Given the description of an element on the screen output the (x, y) to click on. 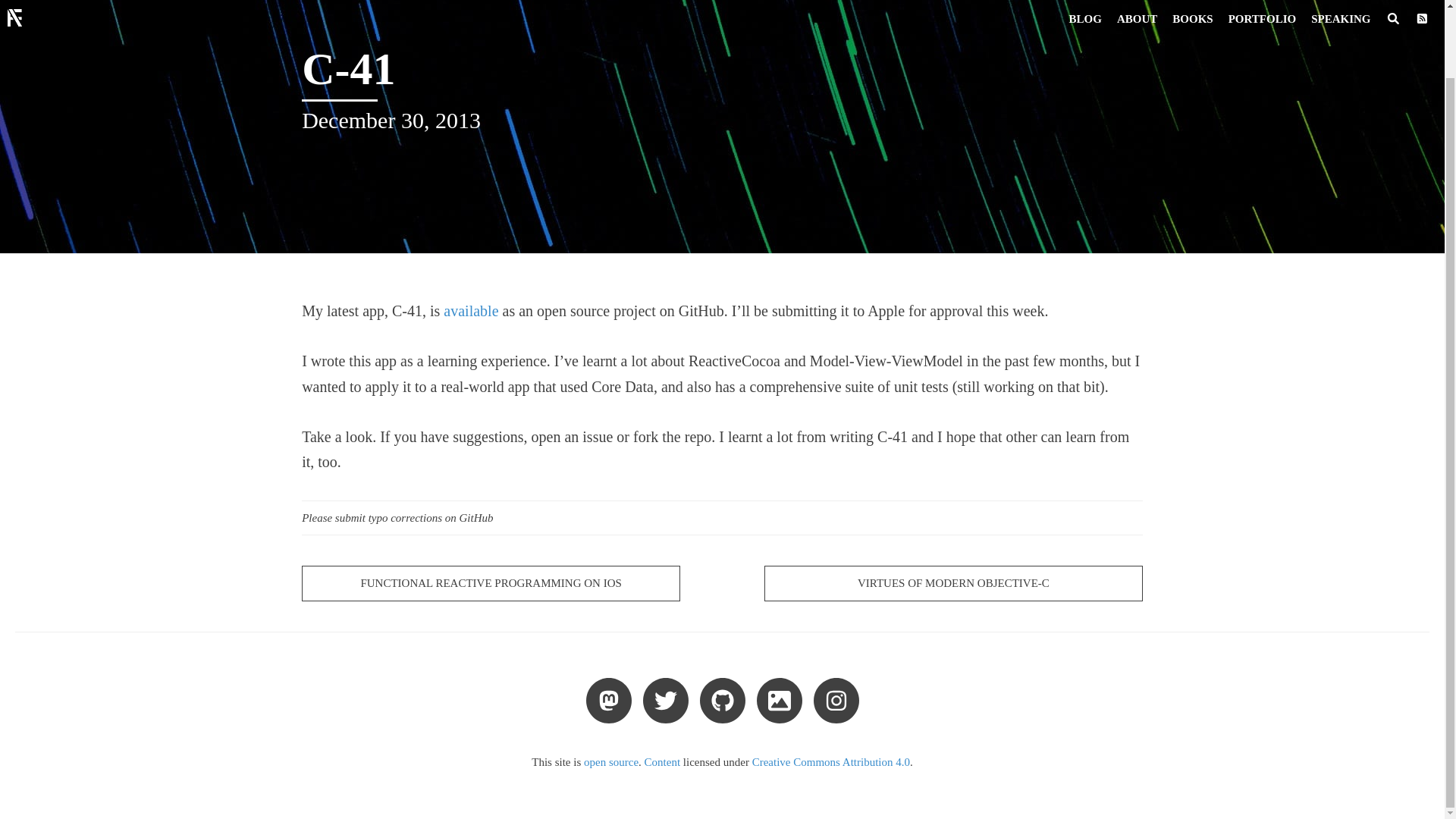
open source (611, 761)
Creative Commons Attribution 4.0 (831, 761)
Please submit typo corrections on GitHub (721, 517)
Content (663, 761)
available (470, 310)
